Given the description of an element on the screen output the (x, y) to click on. 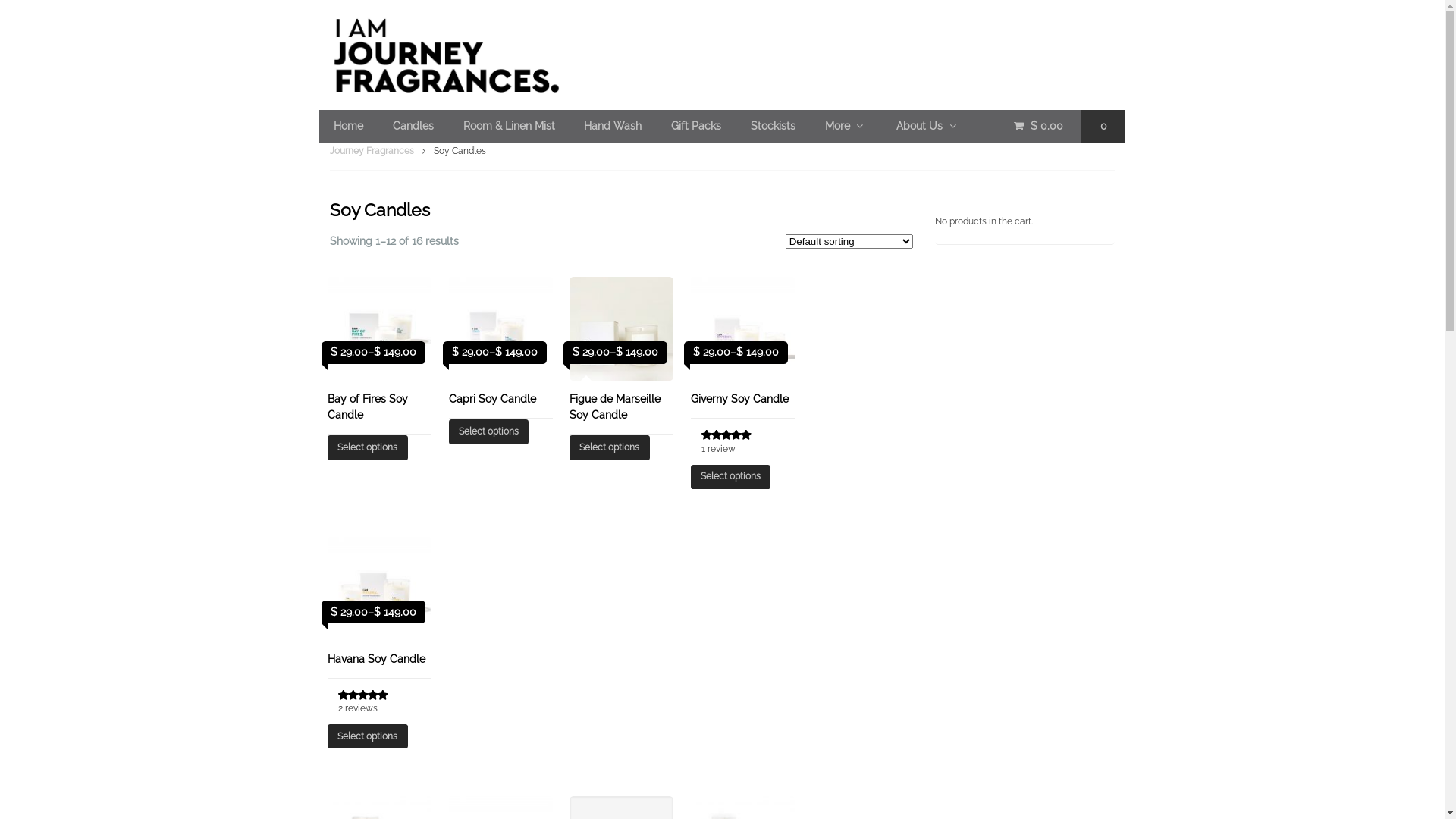
Select options Element type: text (367, 736)
About Us Element type: text (927, 126)
out of 5
2 reviews Element type: text (384, 703)
Journey_Fragrances_Journey_Fragrances3059 Element type: hover (742, 328)
Select options Element type: text (488, 431)
Gift Packs Element type: text (696, 126)
Room & Linen Mist Element type: text (508, 126)
Home Element type: text (348, 126)
Journey_Fragrances_Journey_Fragrances2998 Element type: hover (379, 588)
Luxury Home Fragrance Element type: hover (722, 54)
Journey Fragrances Element type: text (371, 150)
Journey_Fragrances_Journey_Fragrances2940 Element type: hover (379, 328)
Select options Element type: text (367, 447)
Journey_Fragrances_Journey_Fragrances2913 Element type: hover (500, 328)
Select options Element type: text (609, 447)
Stockists Element type: text (773, 126)
Figue Candle Element type: hover (621, 328)
Select options Element type: text (730, 476)
$ 0.00
0 Element type: text (1061, 126)
Hand Wash Element type: text (612, 126)
More Element type: text (845, 126)
out of 5
1 review Element type: text (747, 443)
Candles Element type: text (412, 126)
